Given the description of an element on the screen output the (x, y) to click on. 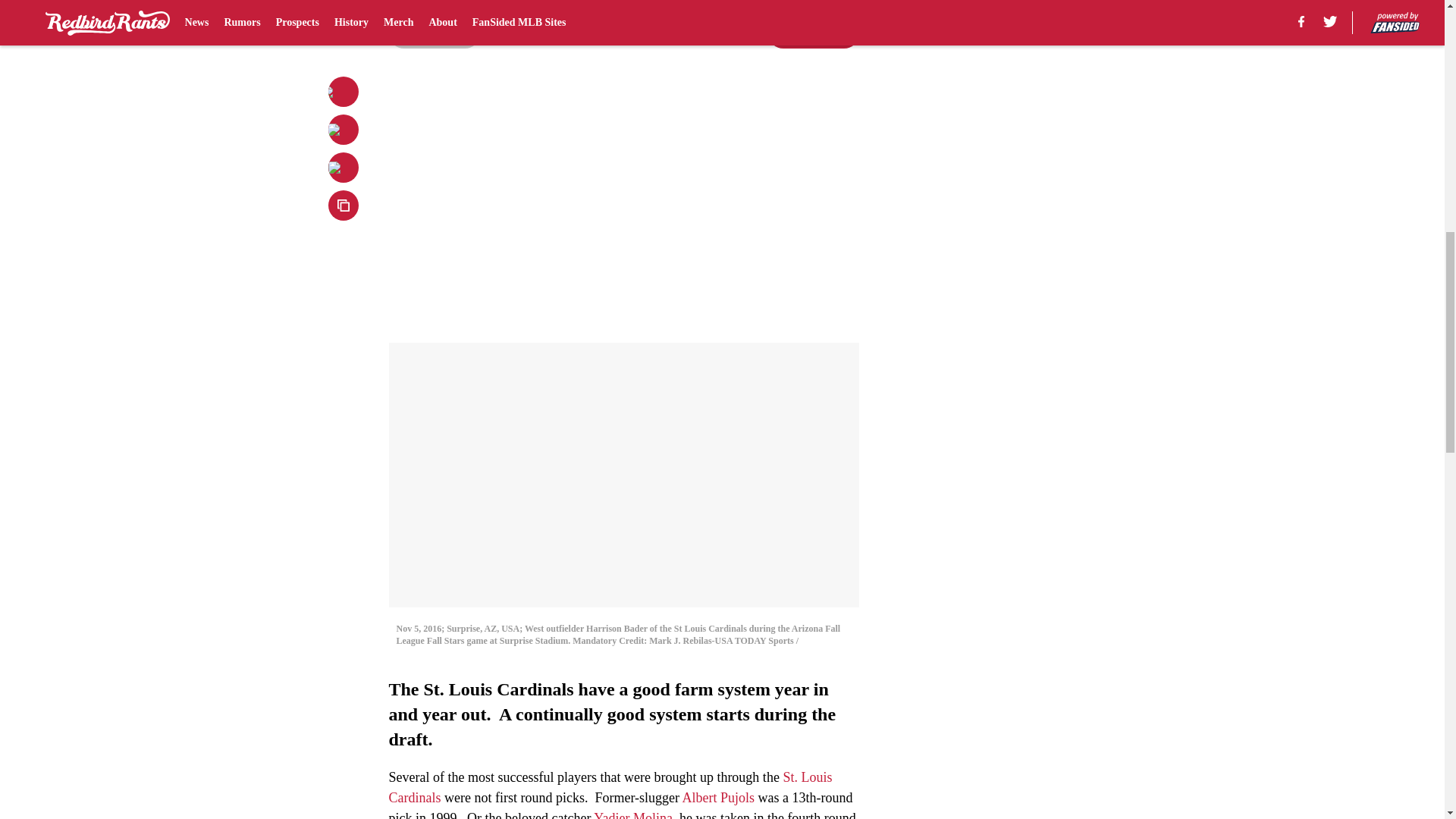
Albert Pujols (718, 797)
Next (813, 33)
St. Louis Cardinals (609, 787)
Yadier Molina (633, 814)
Prev (433, 33)
